Given the description of an element on the screen output the (x, y) to click on. 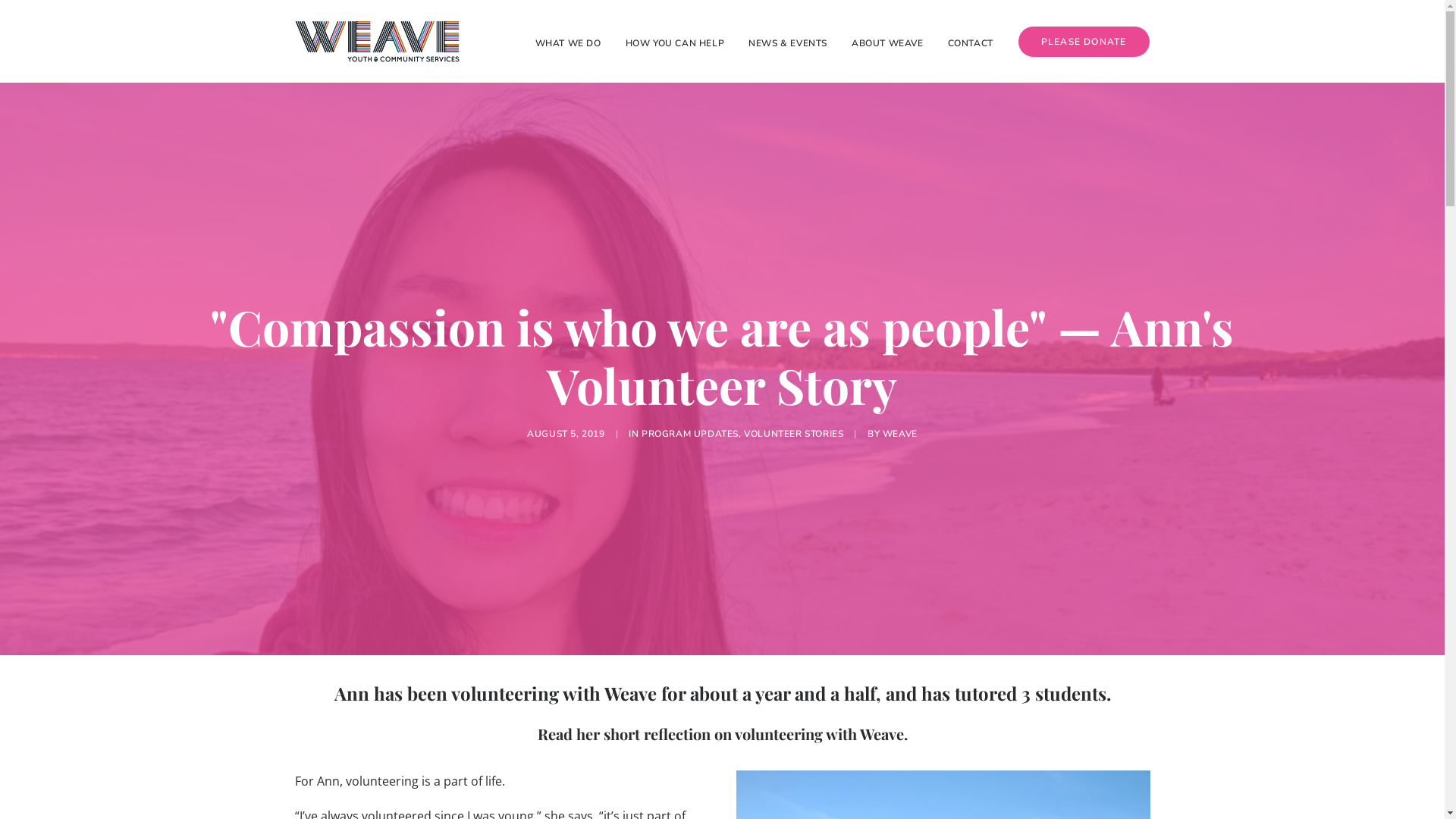
WHAT WE DO Element type: text (573, 41)
NEWS & EVENTS Element type: text (787, 41)
HOW YOU CAN HELP Element type: text (675, 41)
WEAVE Element type: text (899, 433)
PLEASE DONATE Element type: text (1078, 41)
ABOUT WEAVE Element type: text (887, 41)
CONTACT Element type: text (970, 41)
PROGRAM UPDATES Element type: text (689, 433)
VOLUNTEER STORIES Element type: text (793, 433)
